Given the description of an element on the screen output the (x, y) to click on. 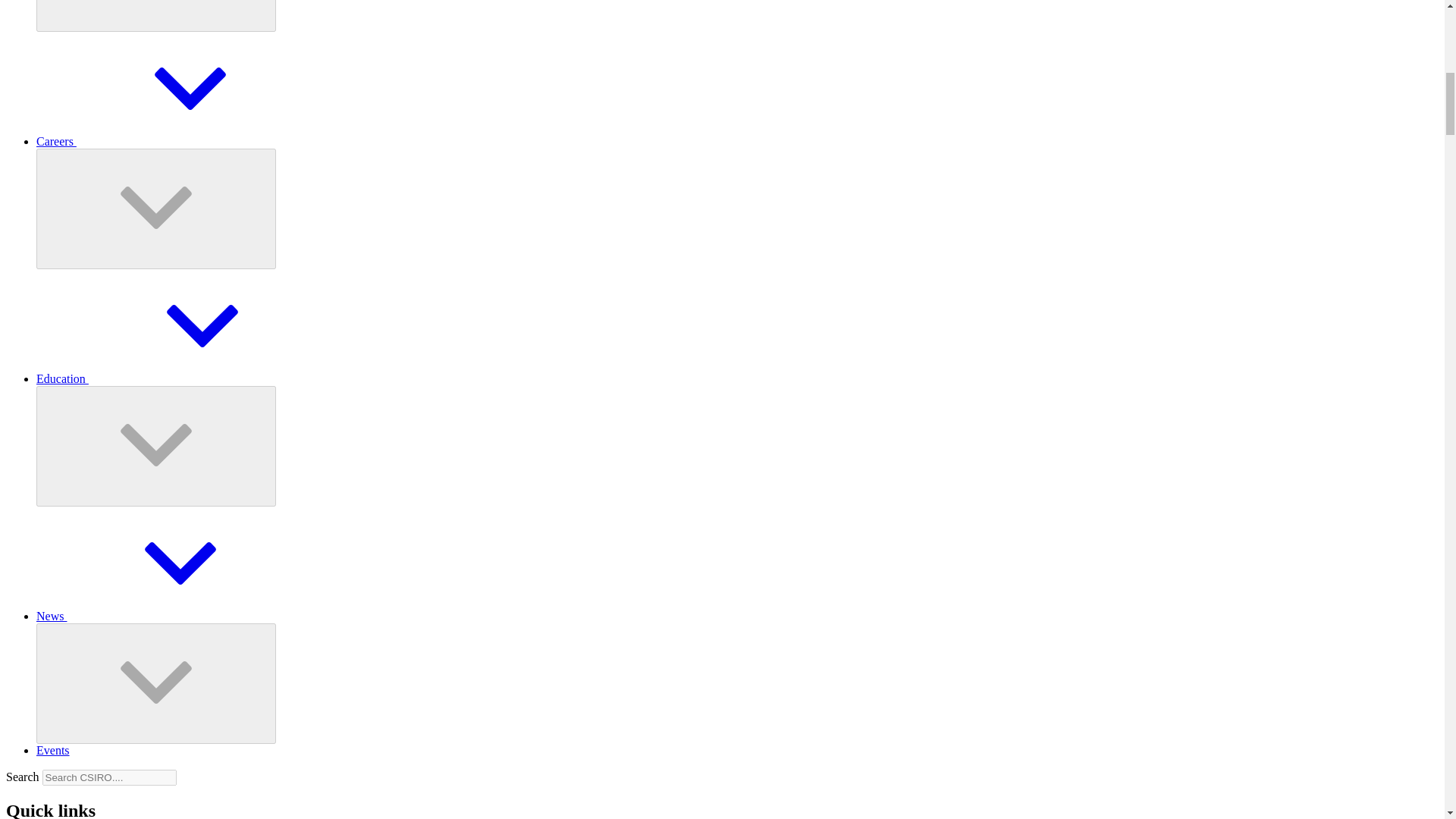
Events (52, 749)
